Given the description of an element on the screen output the (x, y) to click on. 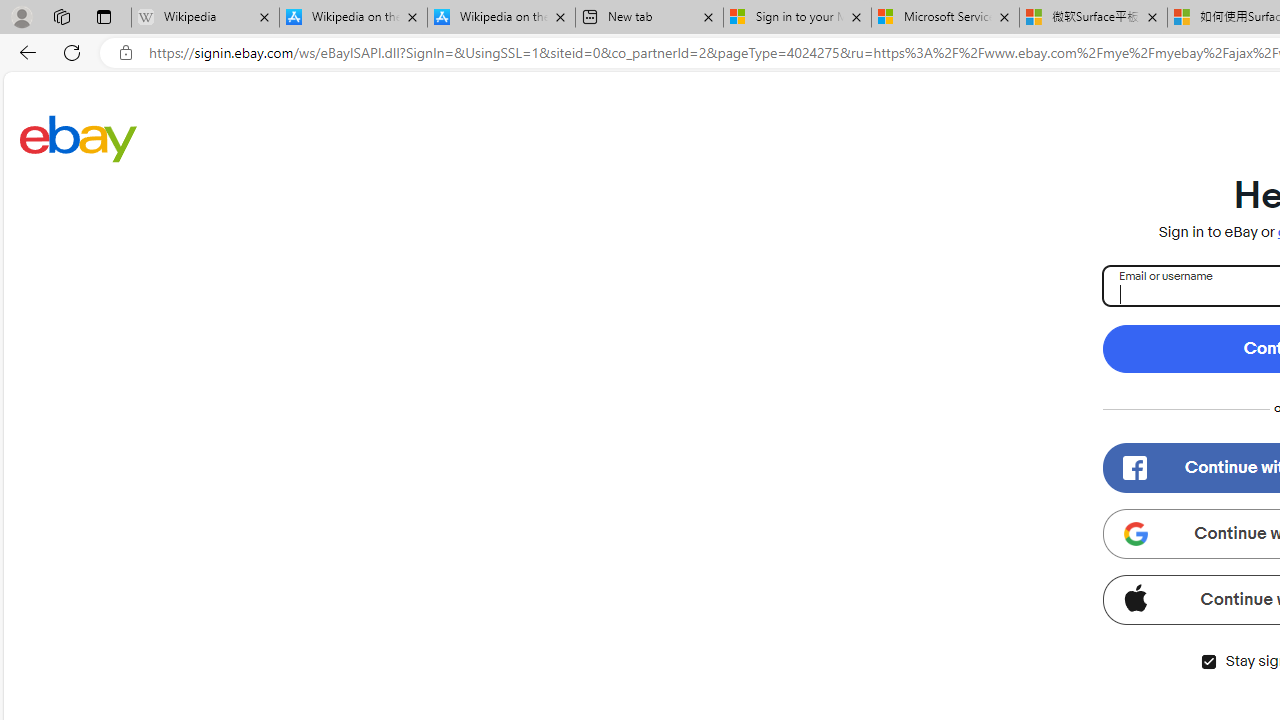
eBay Home (78, 138)
